Given the description of an element on the screen output the (x, y) to click on. 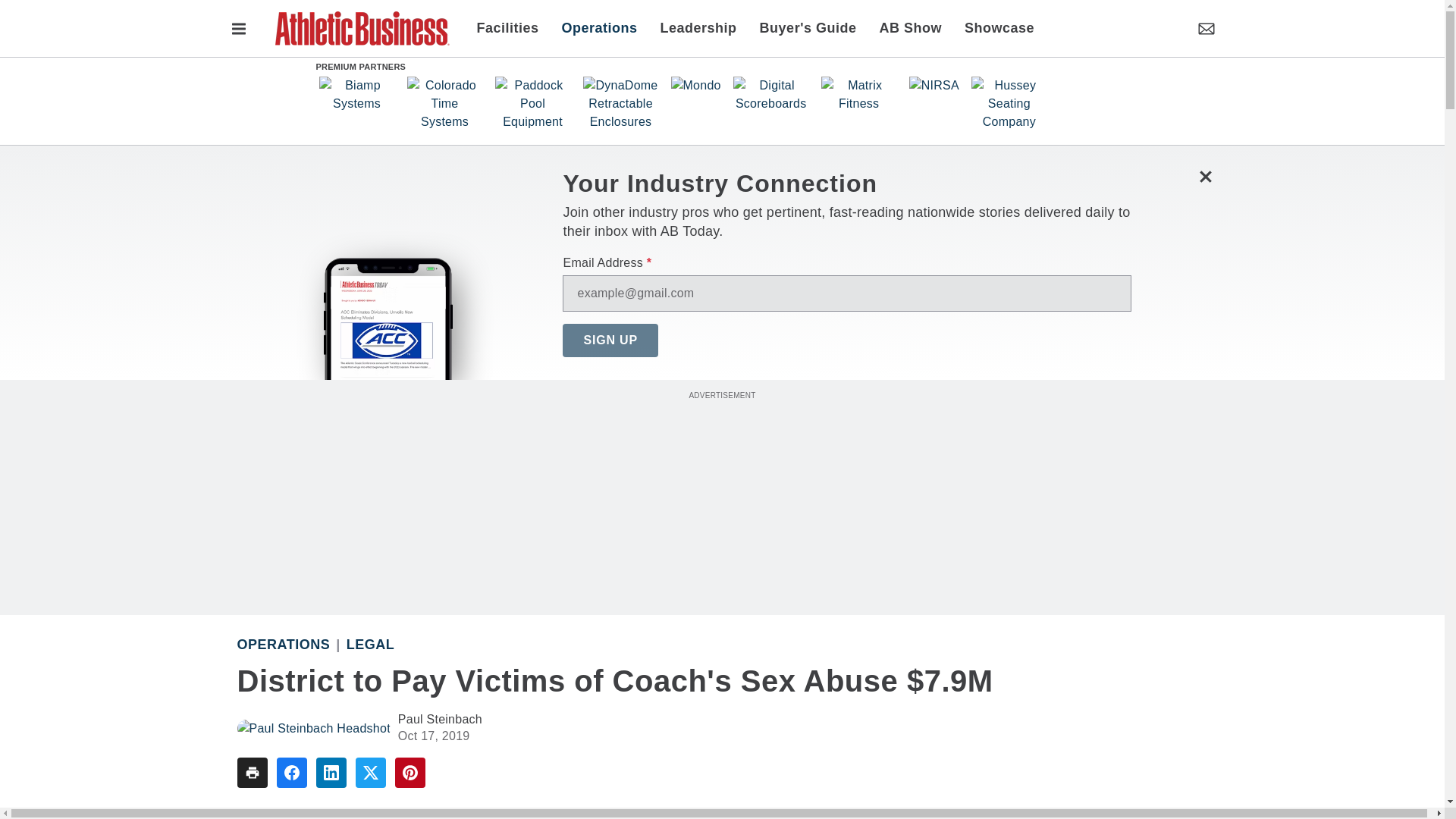
Facilities (513, 27)
Buyer's Guide (807, 27)
Matrix Fitness (858, 94)
Mondo (694, 85)
Leadership (698, 27)
Operations (282, 644)
AB Show (910, 27)
Colorado Time Systems (443, 103)
Paddock Pool Equipment (532, 103)
Digital Scoreboards (771, 94)
